Given the description of an element on the screen output the (x, y) to click on. 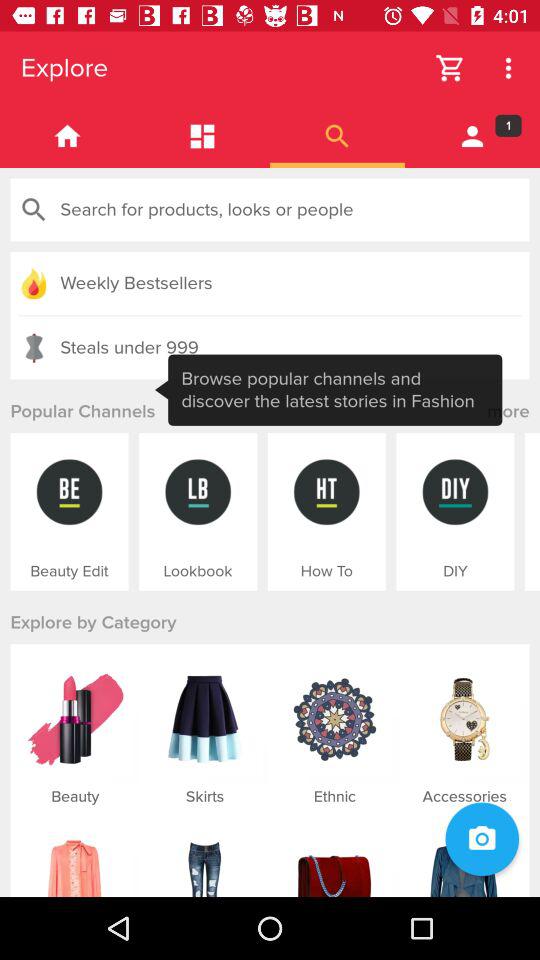
search tab (337, 136)
